Given the description of an element on the screen output the (x, y) to click on. 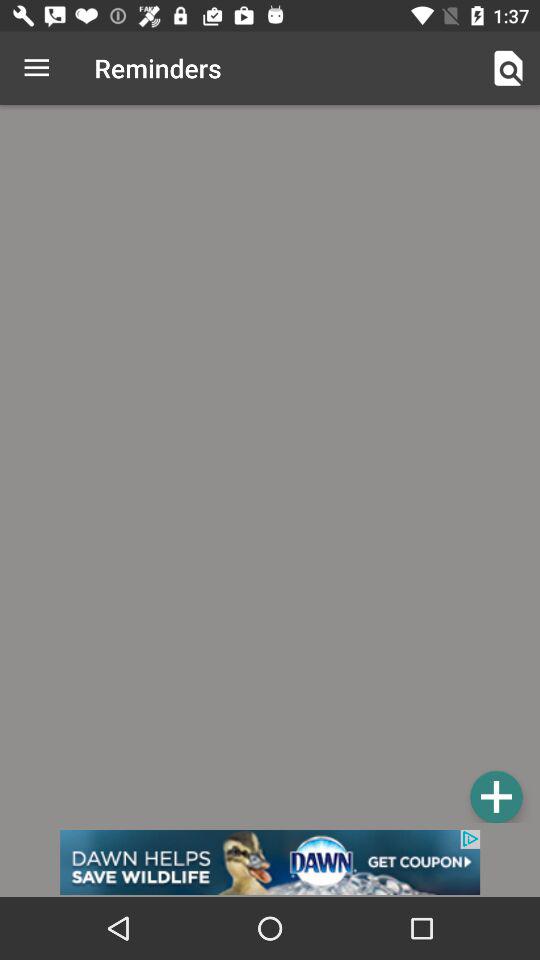
swipe screen (269, 467)
